Given the description of an element on the screen output the (x, y) to click on. 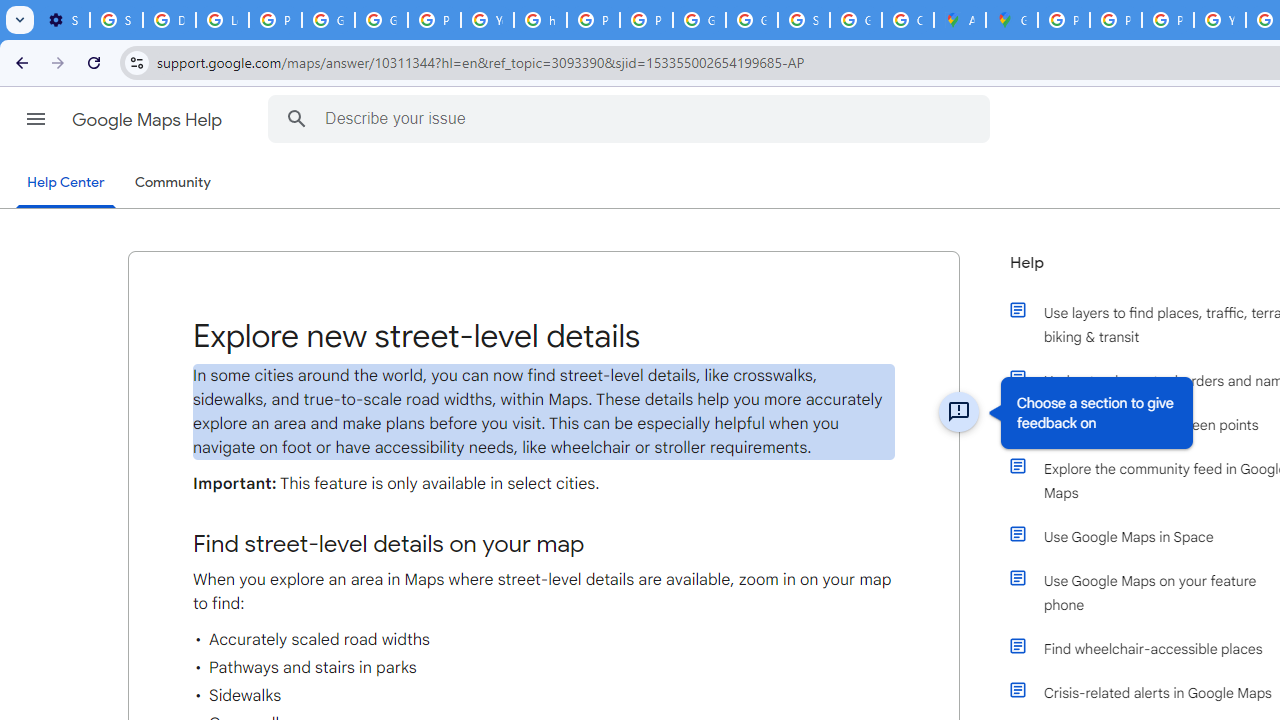
Privacy Help Center - Policies Help (593, 20)
Sign in - Google Accounts (116, 20)
Privacy Help Center - Policies Help (1167, 20)
YouTube (487, 20)
Delete photos & videos - Computer - Google Photos Help (169, 20)
Privacy Help Center - Policies Help (1115, 20)
